Given the description of an element on the screen output the (x, y) to click on. 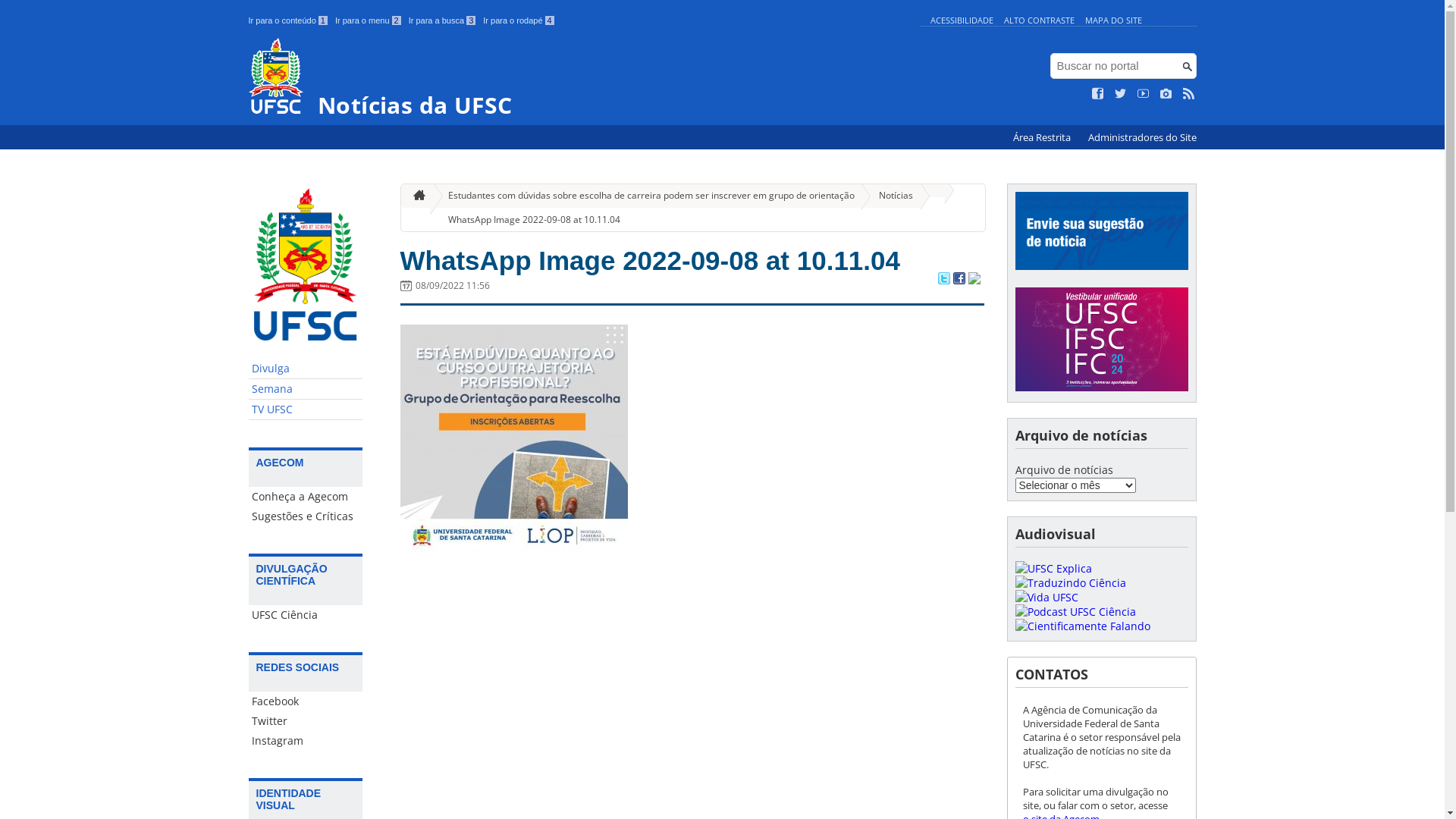
Ir para o menu 2 Element type: text (368, 20)
Twitter Element type: text (305, 721)
Administradores do Site Element type: text (1141, 137)
WhatsApp Image 2022-09-08 at 10.11.04 Element type: text (650, 260)
Divulga Element type: text (305, 368)
Facebook Element type: text (305, 701)
ALTO CONTRASTE Element type: text (1039, 19)
Compartilhar no Twitter Element type: hover (943, 279)
Veja no Instagram Element type: hover (1166, 93)
WhatsApp Image 2022-09-08 at 10.11.04 Element type: text (527, 219)
Curta no Facebook Element type: hover (1098, 93)
Compartilhar no Facebook Element type: hover (958, 279)
Semana Element type: text (305, 389)
ACESSIBILIDADE Element type: text (960, 19)
TV UFSC Element type: text (305, 409)
Ir para a busca 3 Element type: text (442, 20)
MAPA DO SITE Element type: text (1112, 19)
Instagram Element type: text (305, 740)
Siga no Twitter Element type: hover (1120, 93)
Compartilhar no WhatsApp Element type: hover (973, 279)
